Given the description of an element on the screen output the (x, y) to click on. 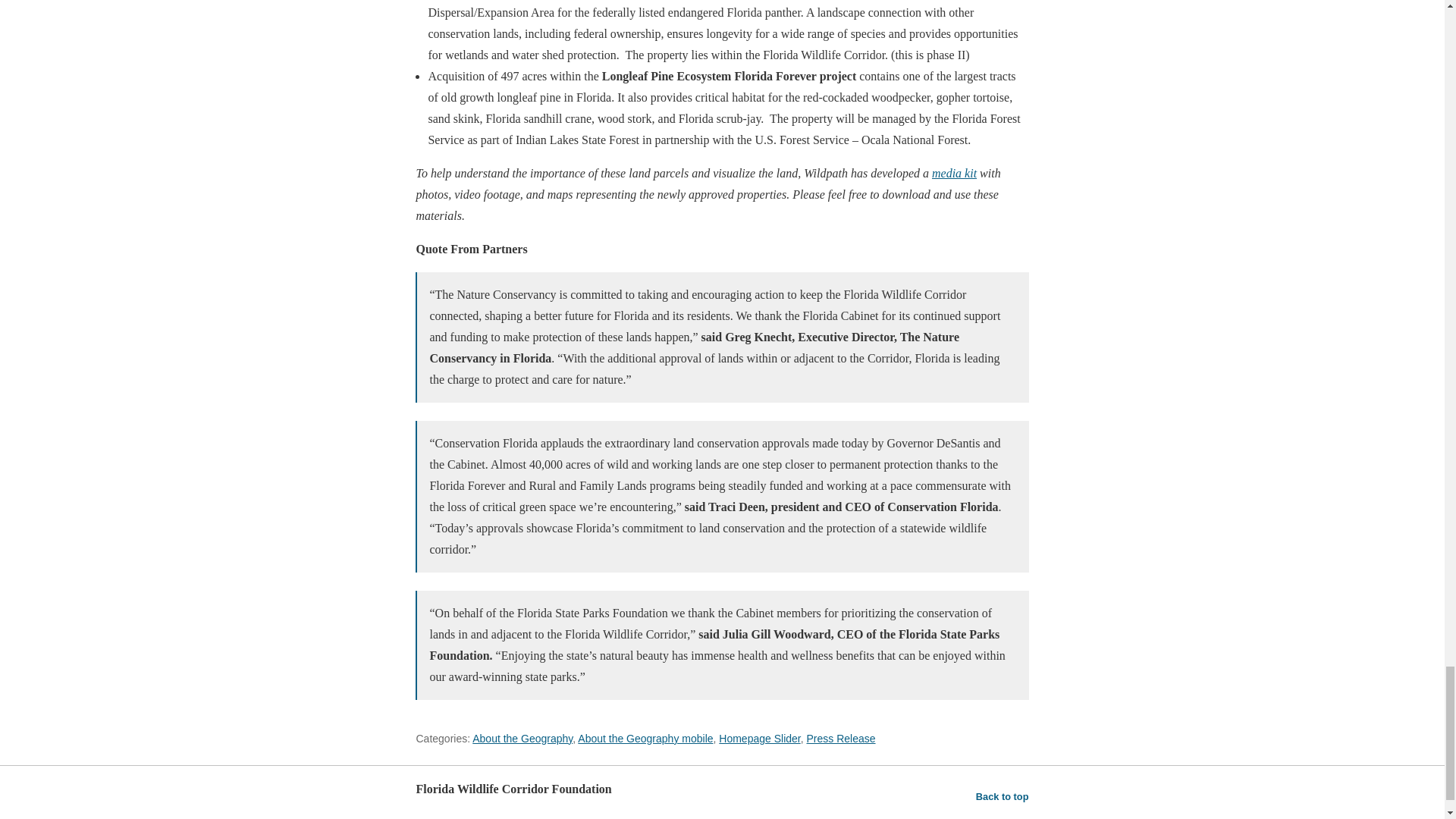
Homepage Slider (759, 738)
Press Release (841, 738)
About the Geography (521, 738)
About the Geography mobile (645, 738)
Back to top (1002, 796)
media kit (953, 173)
